Given the description of an element on the screen output the (x, y) to click on. 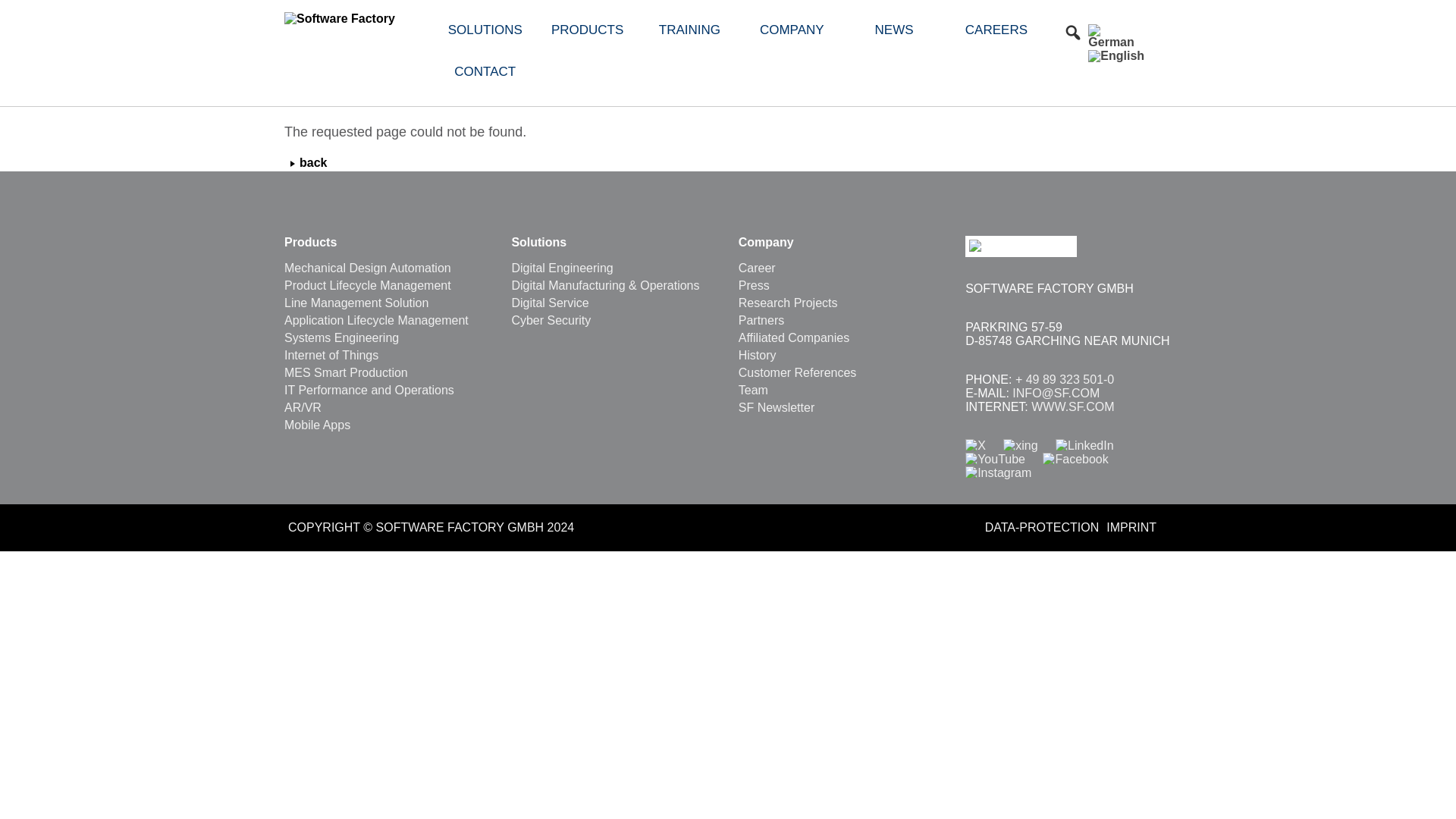
COMPANY (791, 30)
SOLUTIONS (485, 30)
NEWS (894, 30)
TRAINING (689, 30)
PRODUCTS (586, 30)
CAREERS (996, 30)
CONTACT (484, 71)
